Given the description of an element on the screen output the (x, y) to click on. 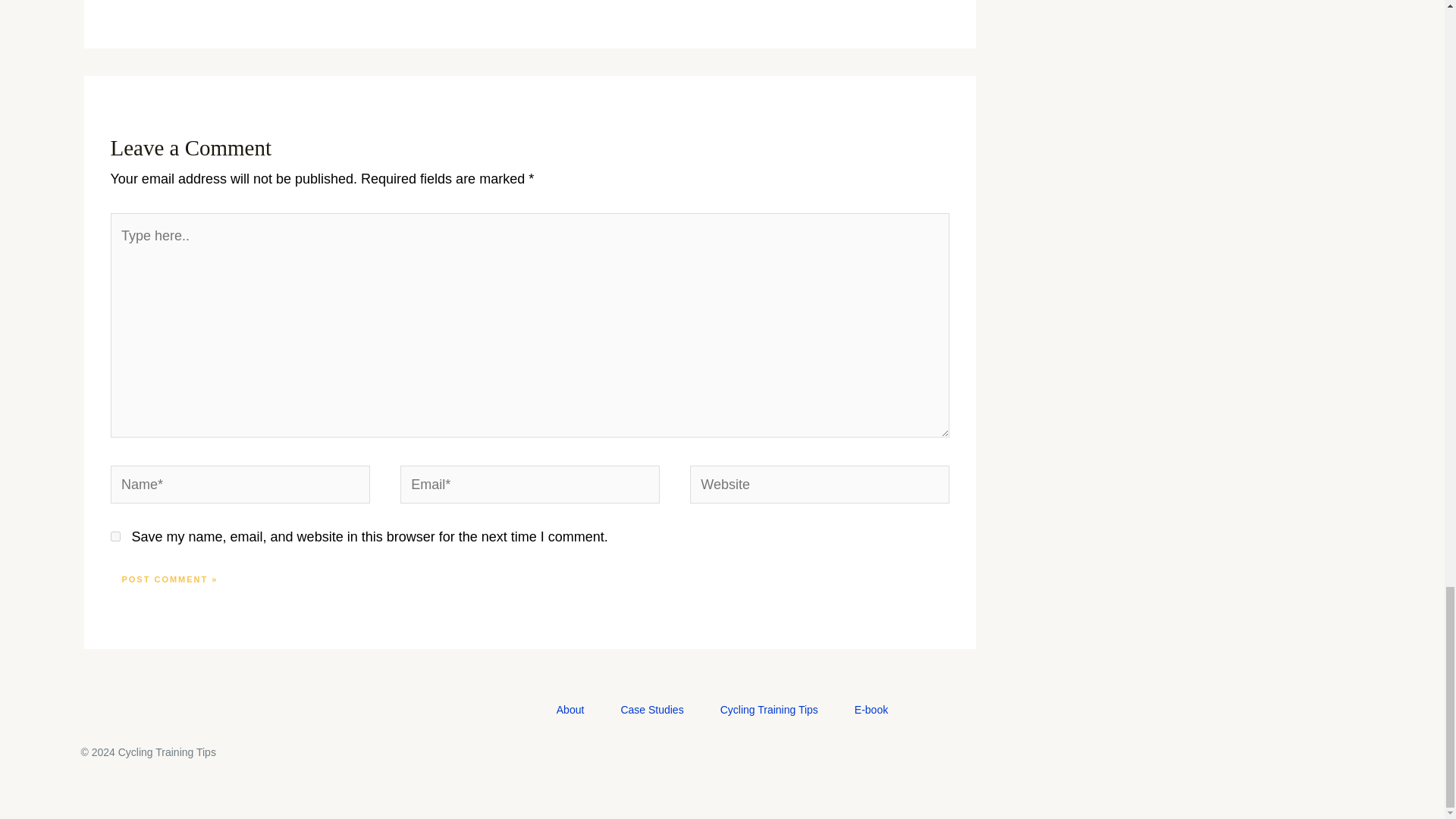
Case Studies (651, 710)
About (570, 710)
Cycling Training Tips (768, 710)
yes (115, 536)
